Given the description of an element on the screen output the (x, y) to click on. 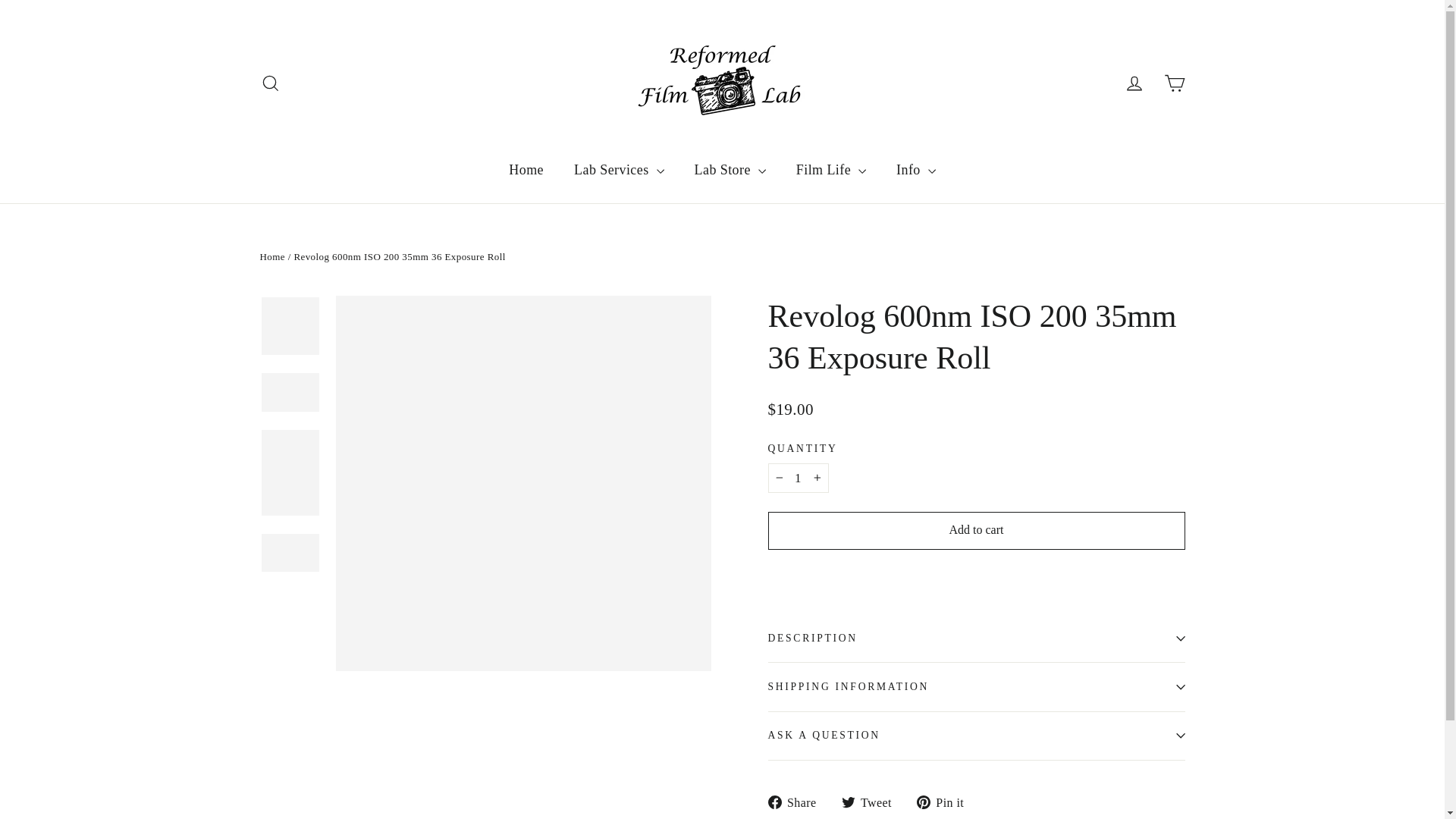
1 (797, 478)
Pin on Pinterest (946, 801)
Share on Facebook (797, 801)
Tweet on Twitter (871, 801)
Back to the frontpage (271, 256)
